Given the description of an element on the screen output the (x, y) to click on. 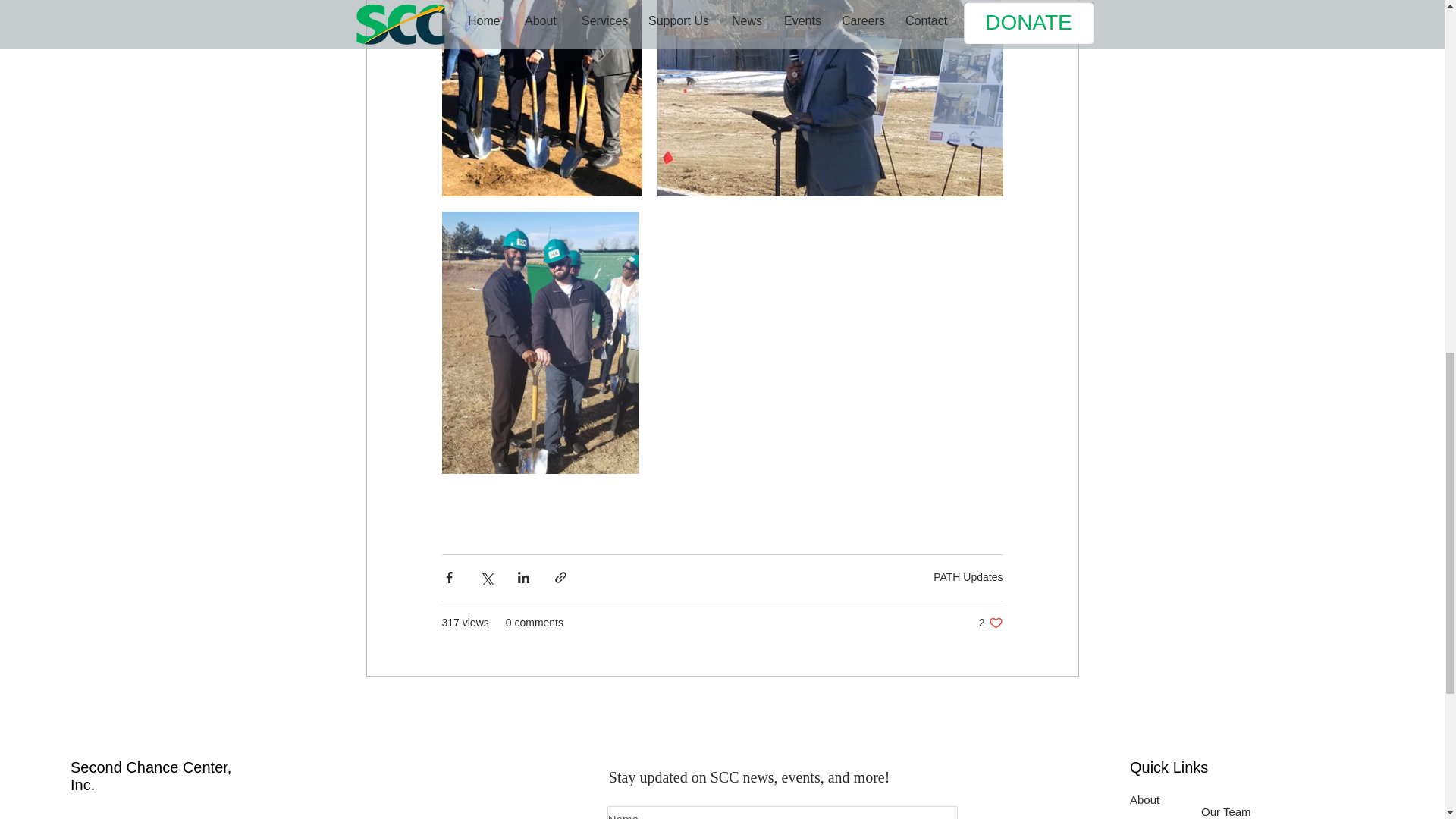
PATH Updates (968, 576)
About (1143, 799)
